Given the description of an element on the screen output the (x, y) to click on. 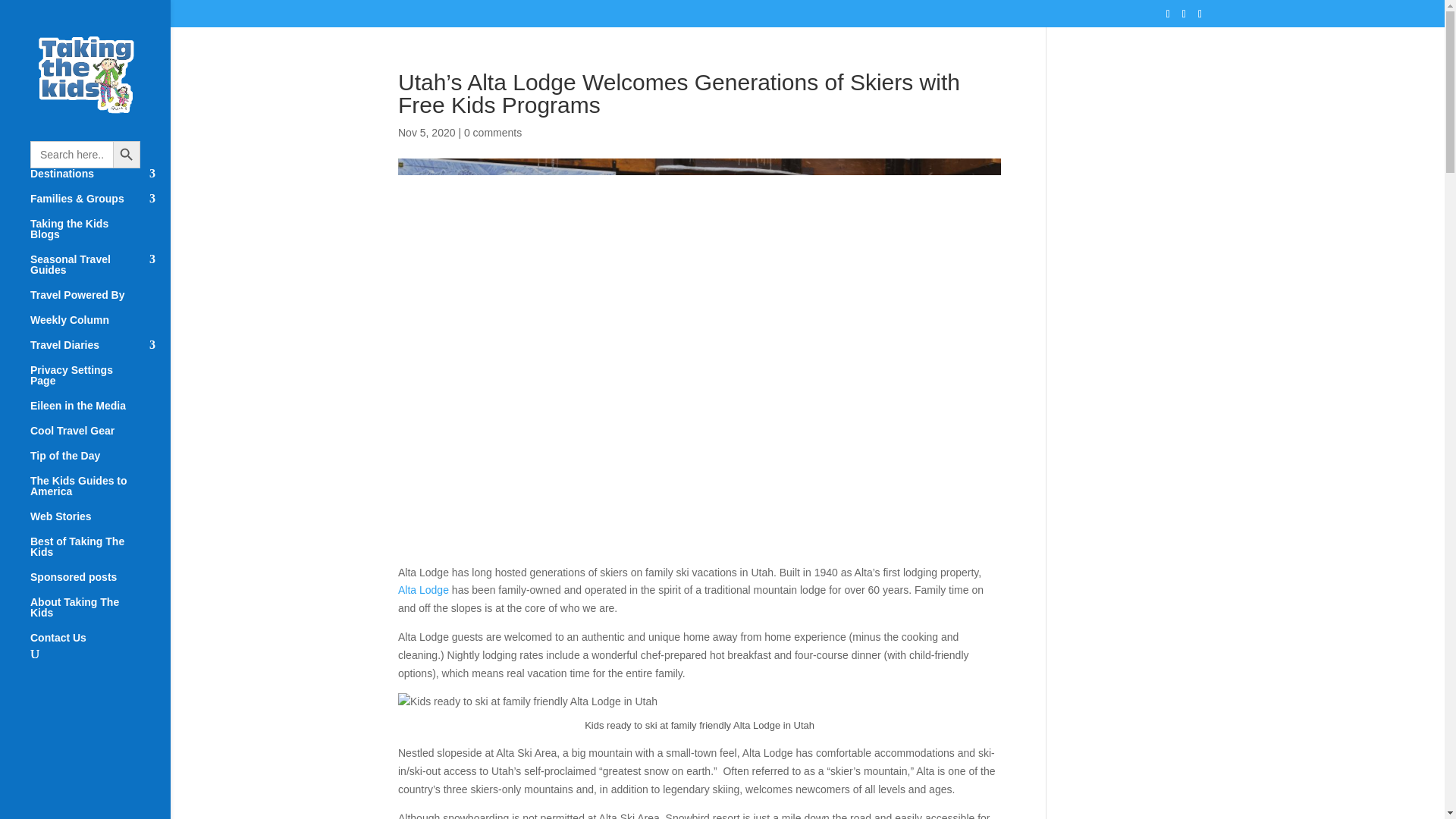
Travel Powered By (100, 301)
Search Button (126, 154)
Weekly Column (100, 326)
Tip of the Day (100, 462)
Destinations (100, 180)
Web Stories (100, 523)
Best of Taking The Kids (100, 553)
Eileen in the Media (100, 412)
Seasonal Travel Guides (100, 271)
Cool Travel Gear (100, 437)
